Given the description of an element on the screen output the (x, y) to click on. 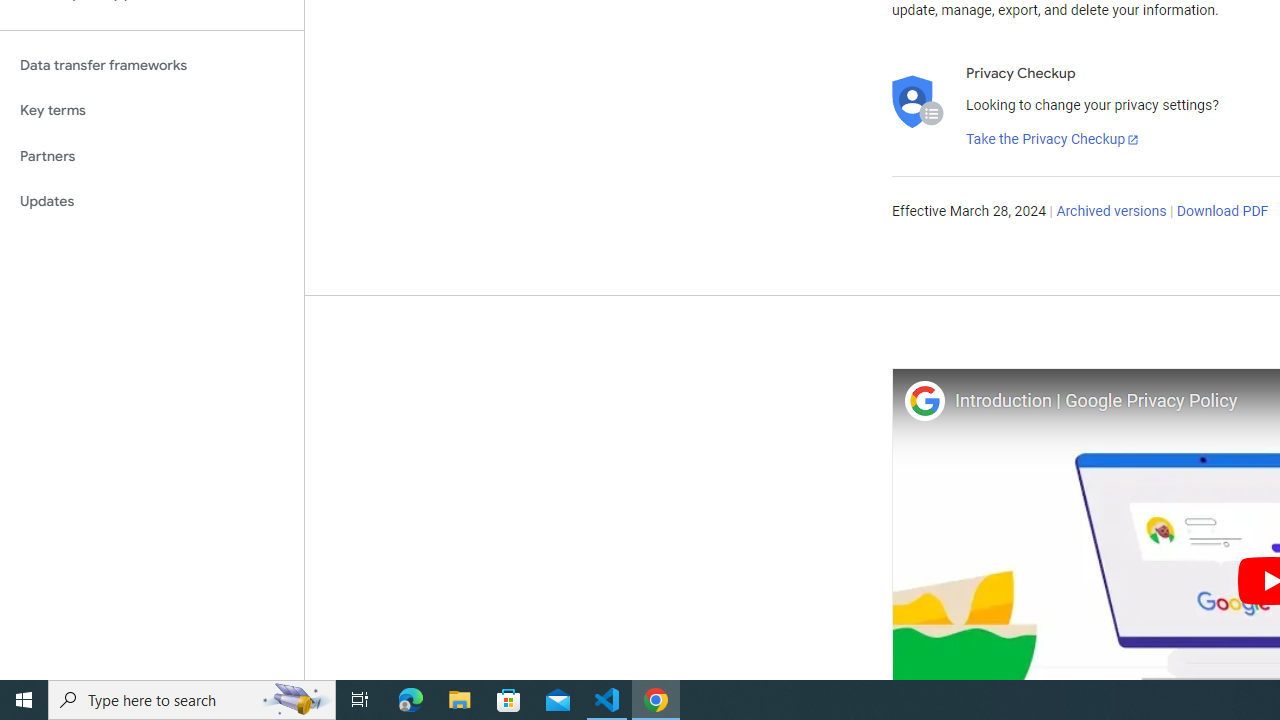
Data transfer frameworks (152, 65)
Partners (152, 156)
Download PDF (1222, 212)
Key terms (152, 110)
Updates (152, 201)
Take the Privacy Checkup (1053, 140)
Archived versions (1111, 212)
Photo image of Google (924, 400)
